Given the description of an element on the screen output the (x, y) to click on. 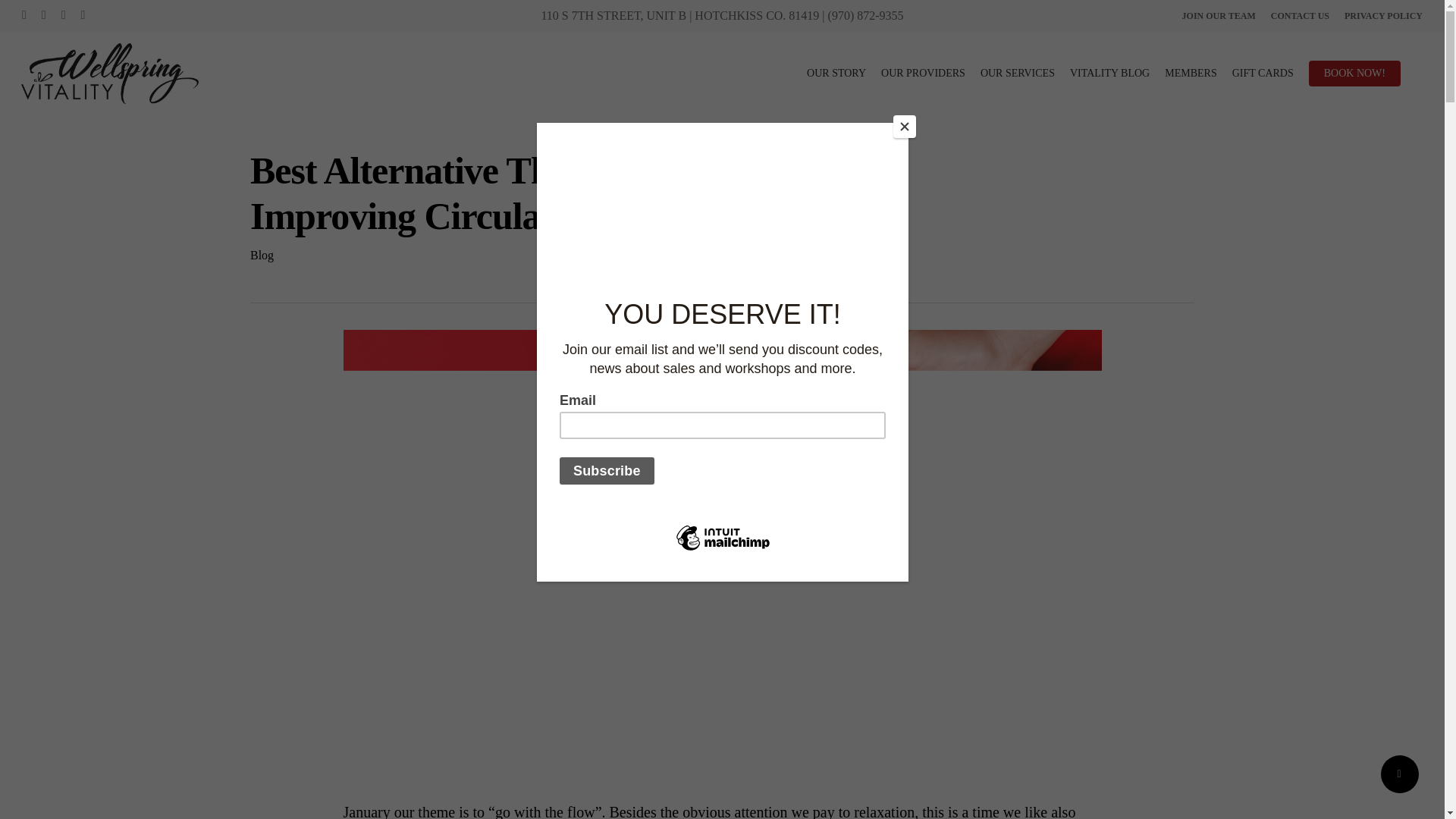
GIFT CARDS (1262, 72)
VITALITY BLOG (1110, 72)
CONTACT US (1300, 15)
OUR SERVICES (1016, 72)
MEMBERS (1189, 72)
OUR STORY (836, 72)
BOOK NOW! (1354, 72)
JOIN OUR TEAM (1218, 15)
PRIVACY POLICY (1382, 15)
Blog (261, 254)
